Given the description of an element on the screen output the (x, y) to click on. 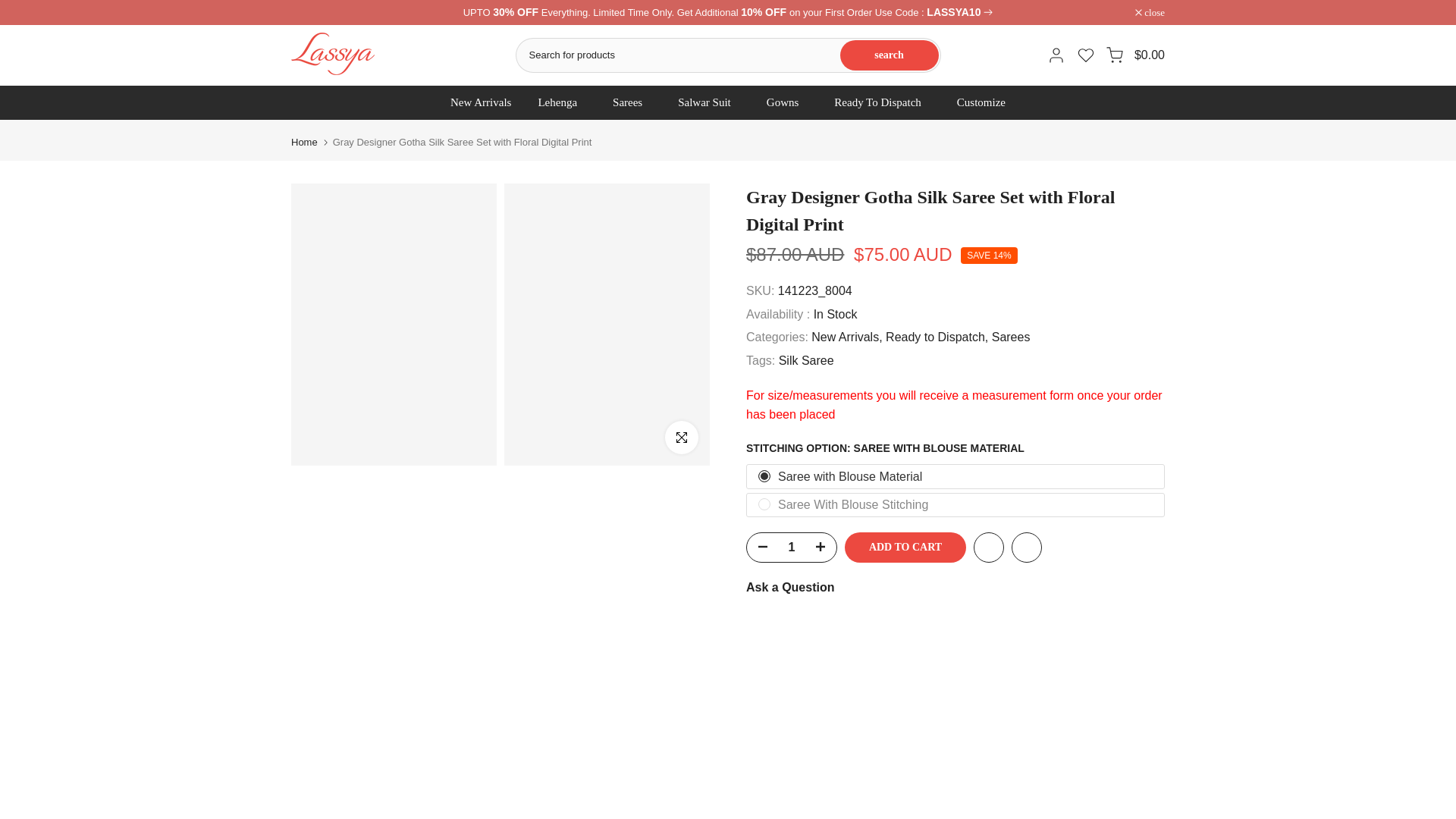
New Arrivals (846, 337)
Customize (980, 102)
Silk Saree (806, 361)
Ready To Dispatch (882, 102)
Ready to Dispatch (936, 337)
Skip to content (10, 7)
Gowns (786, 102)
close (1149, 12)
Home (304, 142)
New Arrivals (480, 102)
Salwar Suit (709, 102)
Ask a Question (789, 586)
Lehenga (561, 102)
ADD TO CART (905, 547)
Sarees (1010, 337)
